Given the description of an element on the screen output the (x, y) to click on. 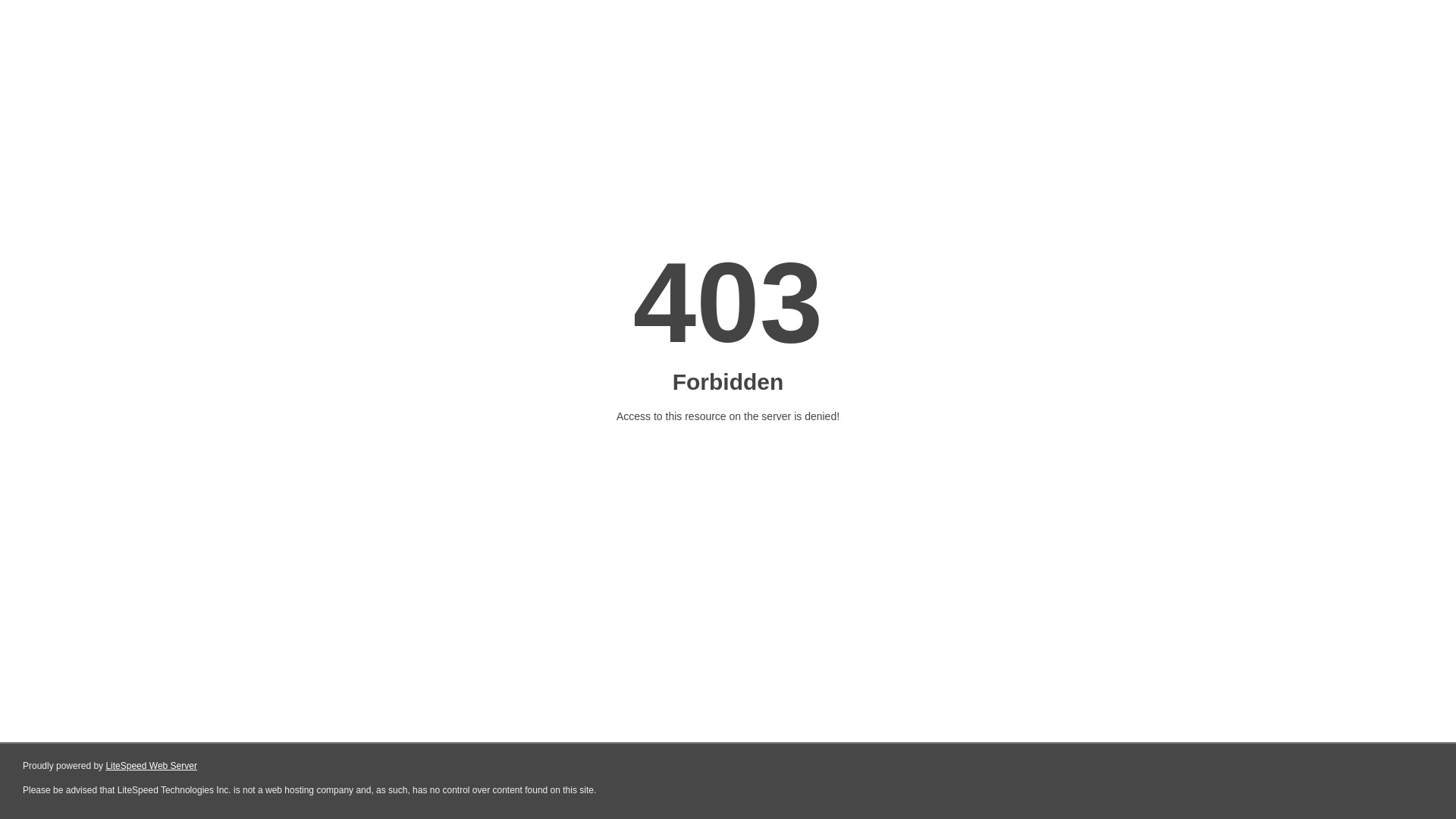
LiteSpeed Web Server Element type: text (151, 765)
